Given the description of an element on the screen output the (x, y) to click on. 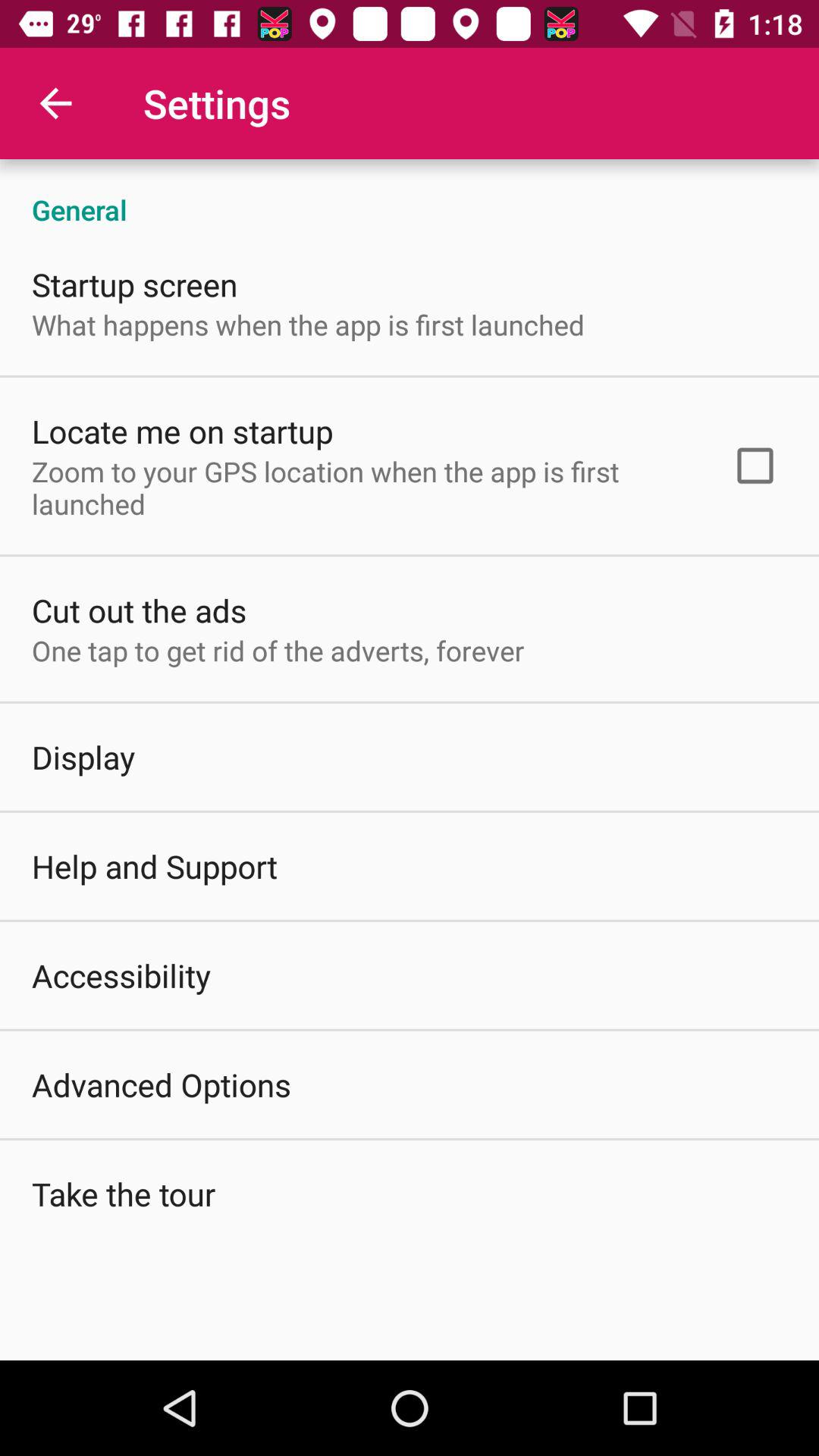
swipe to the locate me on item (182, 430)
